Given the description of an element on the screen output the (x, y) to click on. 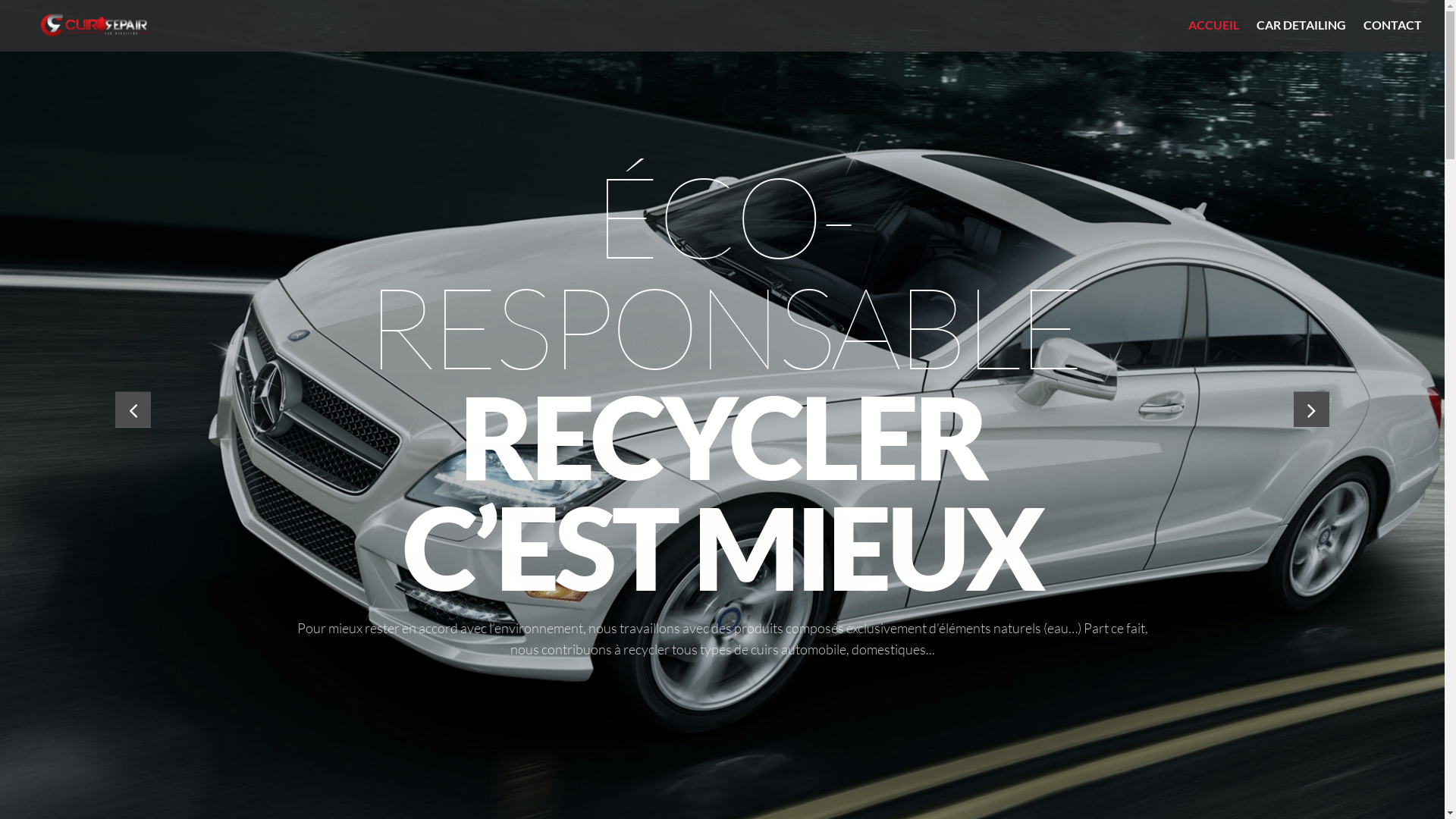
ACCUEIL Element type: text (1213, 24)
CAR DETAILING Element type: text (1301, 24)
CONTACT Element type: text (1392, 24)
